Given the description of an element on the screen output the (x, y) to click on. 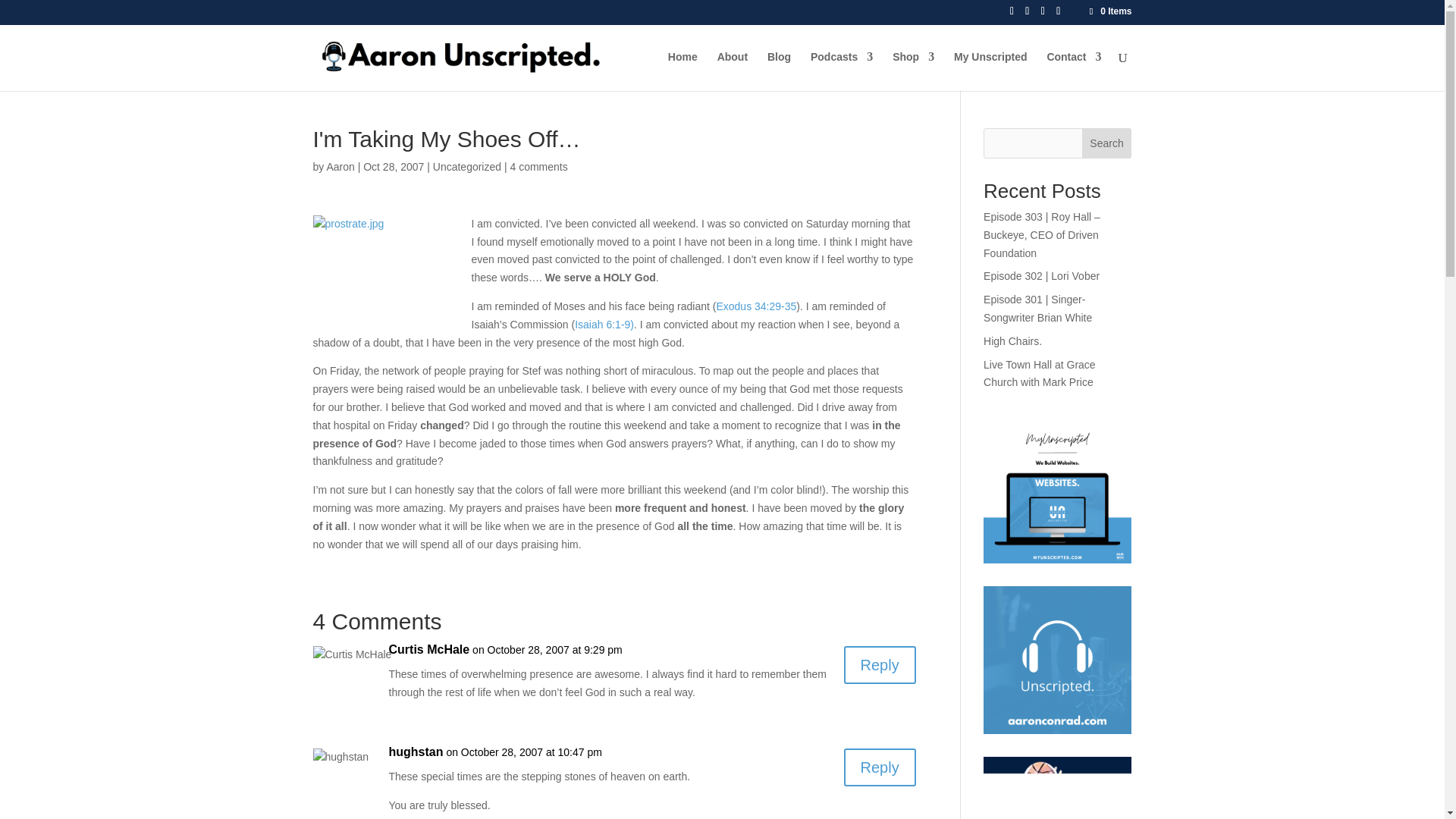
Posts by Aaron (339, 166)
Shop (913, 70)
Contact (1073, 70)
My Unscripted (989, 70)
Podcasts (841, 70)
0 Items (1108, 10)
